Given the description of an element on the screen output the (x, y) to click on. 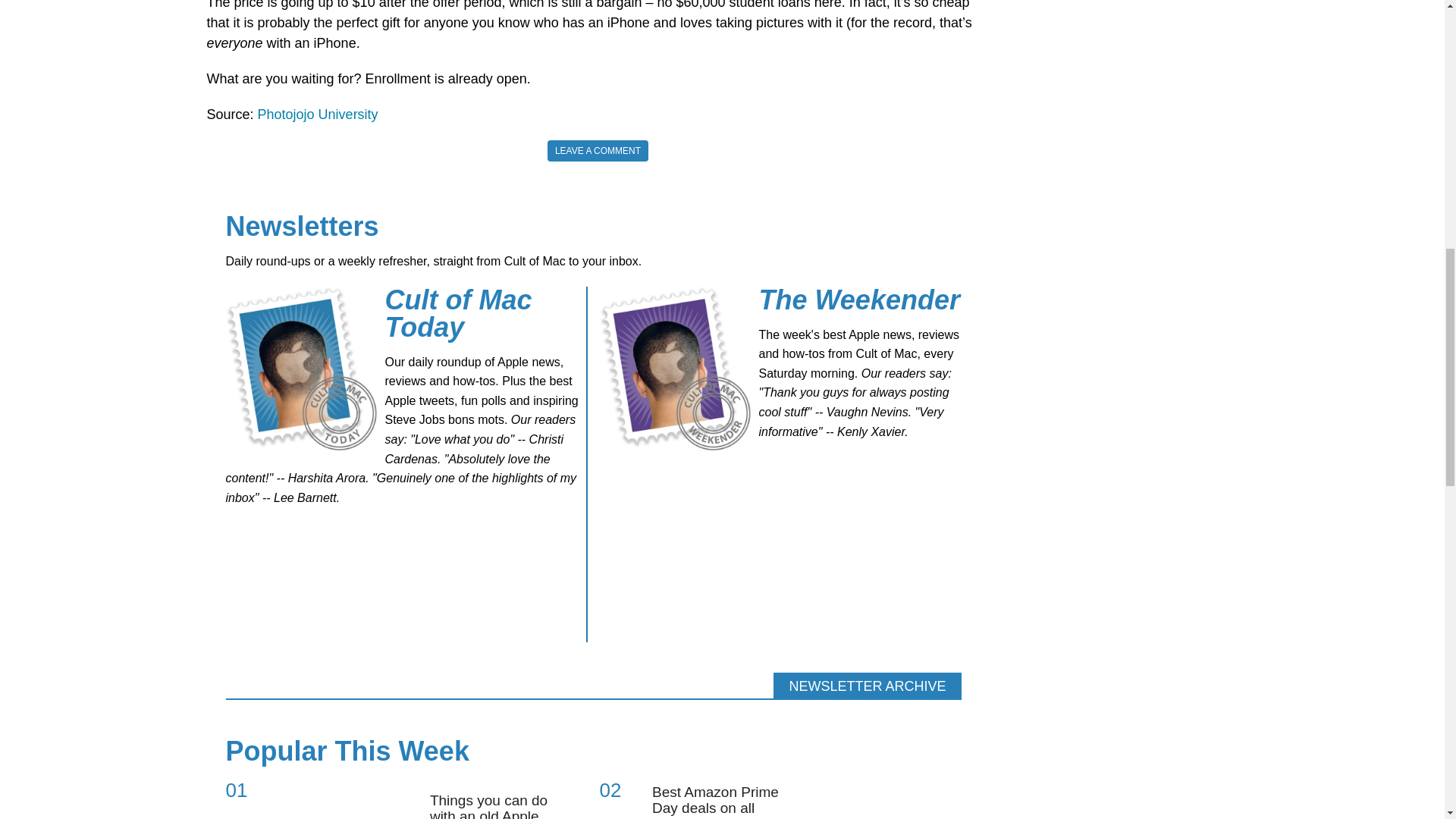
Photojojo University Schools You On iPhoneography - Comments (597, 150)
Photojojo University! (317, 114)
